Given the description of an element on the screen output the (x, y) to click on. 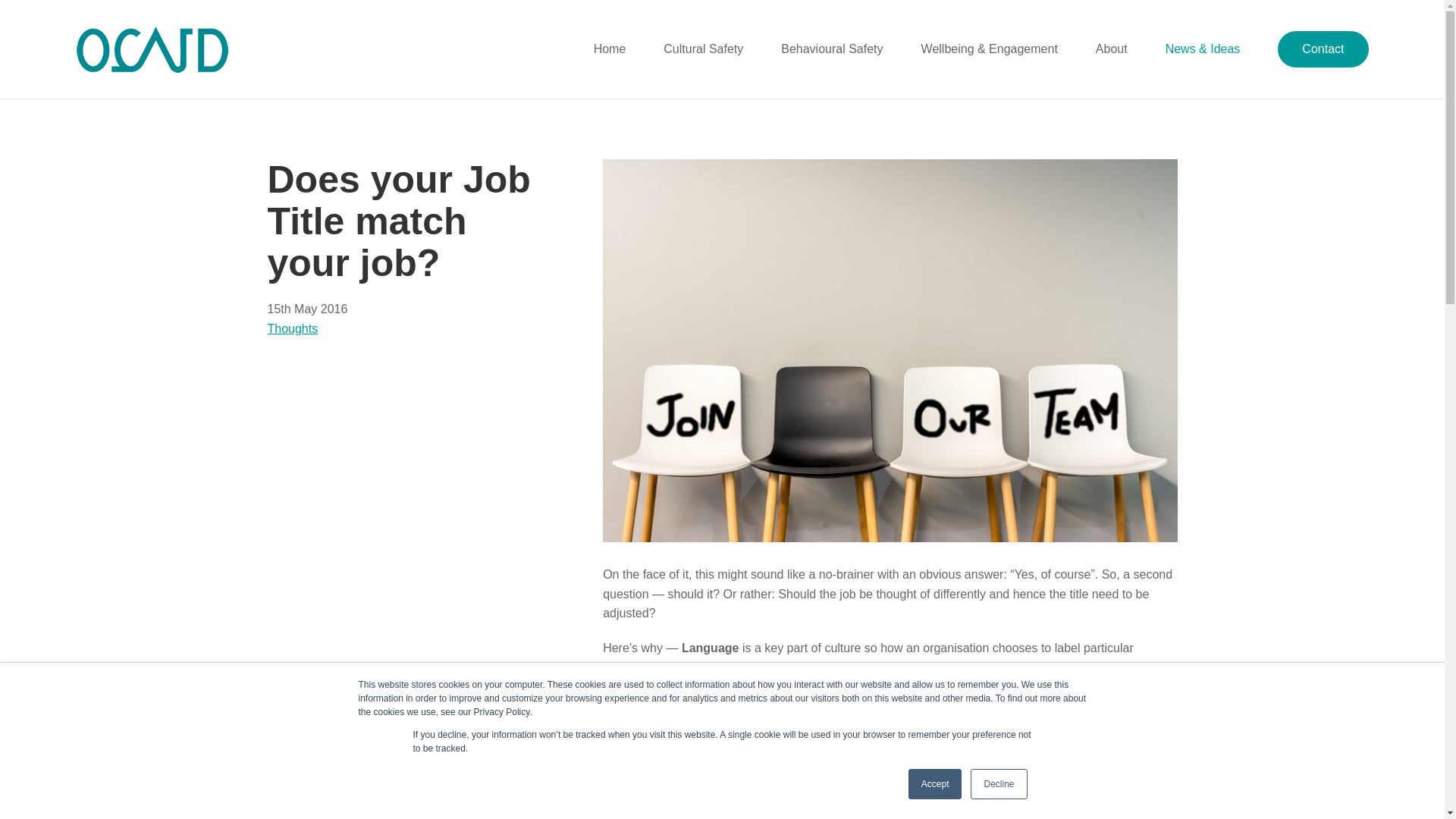
Decline (998, 784)
Contact (1323, 49)
Home (610, 49)
Thoughts (291, 328)
Behavioural Safety (831, 49)
Cultural Safety (702, 49)
Accept (935, 784)
About (1111, 49)
